Given the description of an element on the screen output the (x, y) to click on. 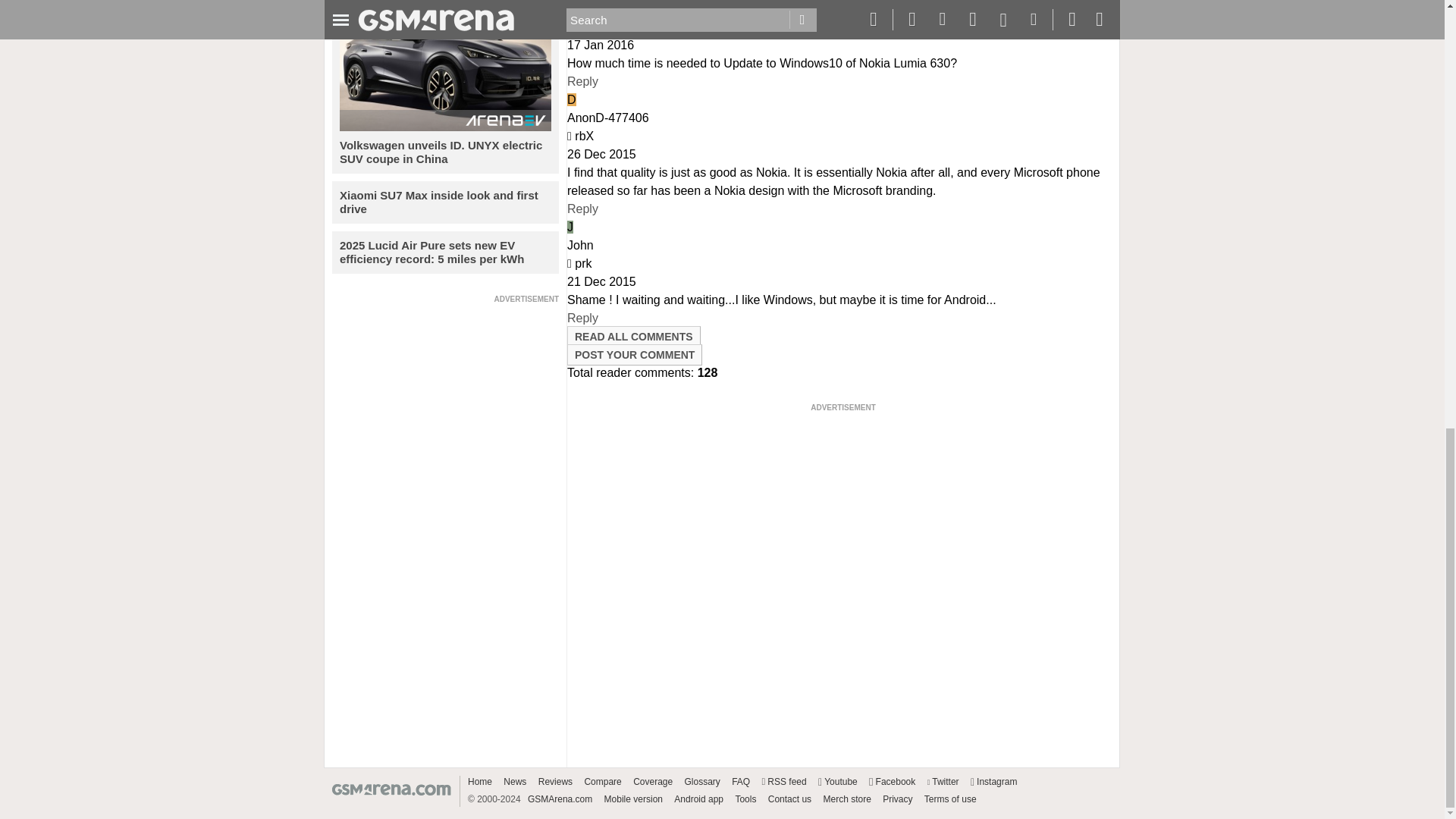
Encoded anonymized location (583, 263)
Reply (582, 81)
Reply to this post (582, 318)
Reply to this post (582, 208)
Encoded anonymized location (584, 135)
Encoded anonymized location (583, 26)
Reply to this post (582, 81)
